Given the description of an element on the screen output the (x, y) to click on. 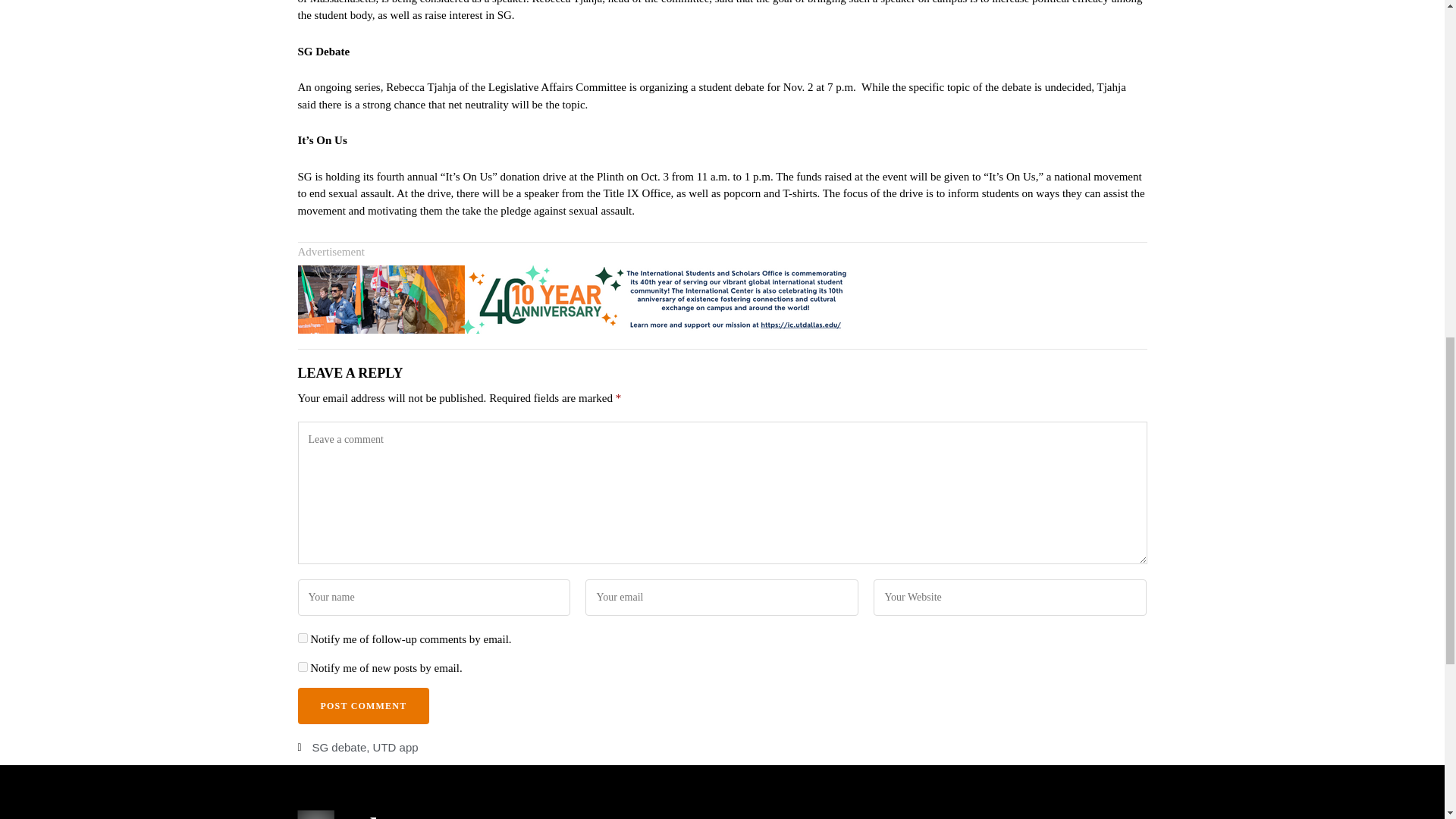
subscribe (302, 637)
Post Comment (363, 705)
subscribe (302, 665)
